Given the description of an element on the screen output the (x, y) to click on. 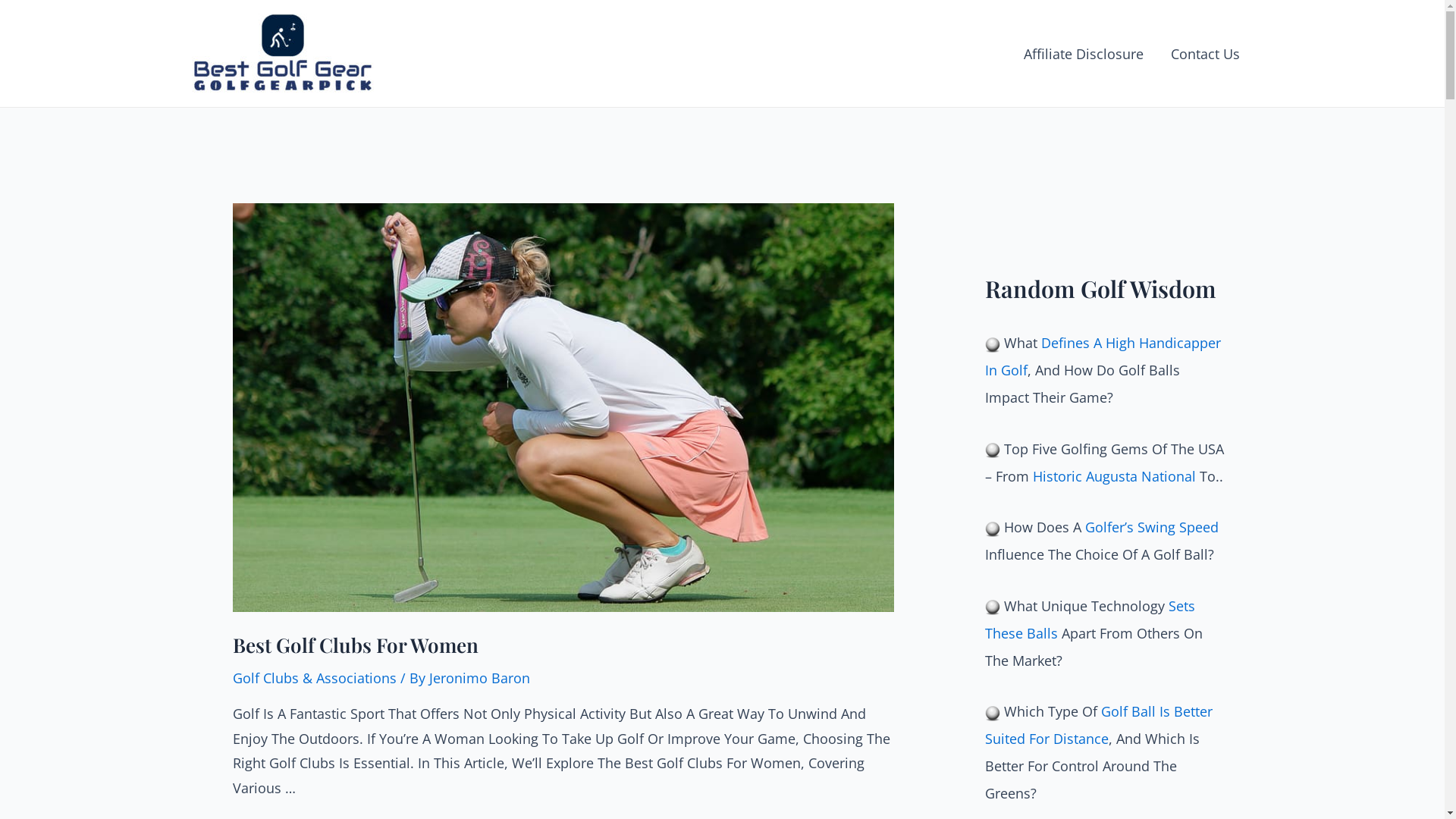
Historic Augusta National Element type: text (1113, 476)
Golf Clubs & Associations Element type: text (313, 677)
Jeronimo Baron Element type: text (479, 677)
Affiliate Disclosure Element type: text (1083, 52)
Sets These Balls Element type: text (1089, 619)
Contact Us Element type: text (1205, 52)
Best Golf Clubs For Women Element type: text (354, 644)
Golf Ball Is Better Suited For Distance Element type: text (1097, 724)
Defines A High Handicapper In Golf Element type: text (1102, 356)
